Given the description of an element on the screen output the (x, y) to click on. 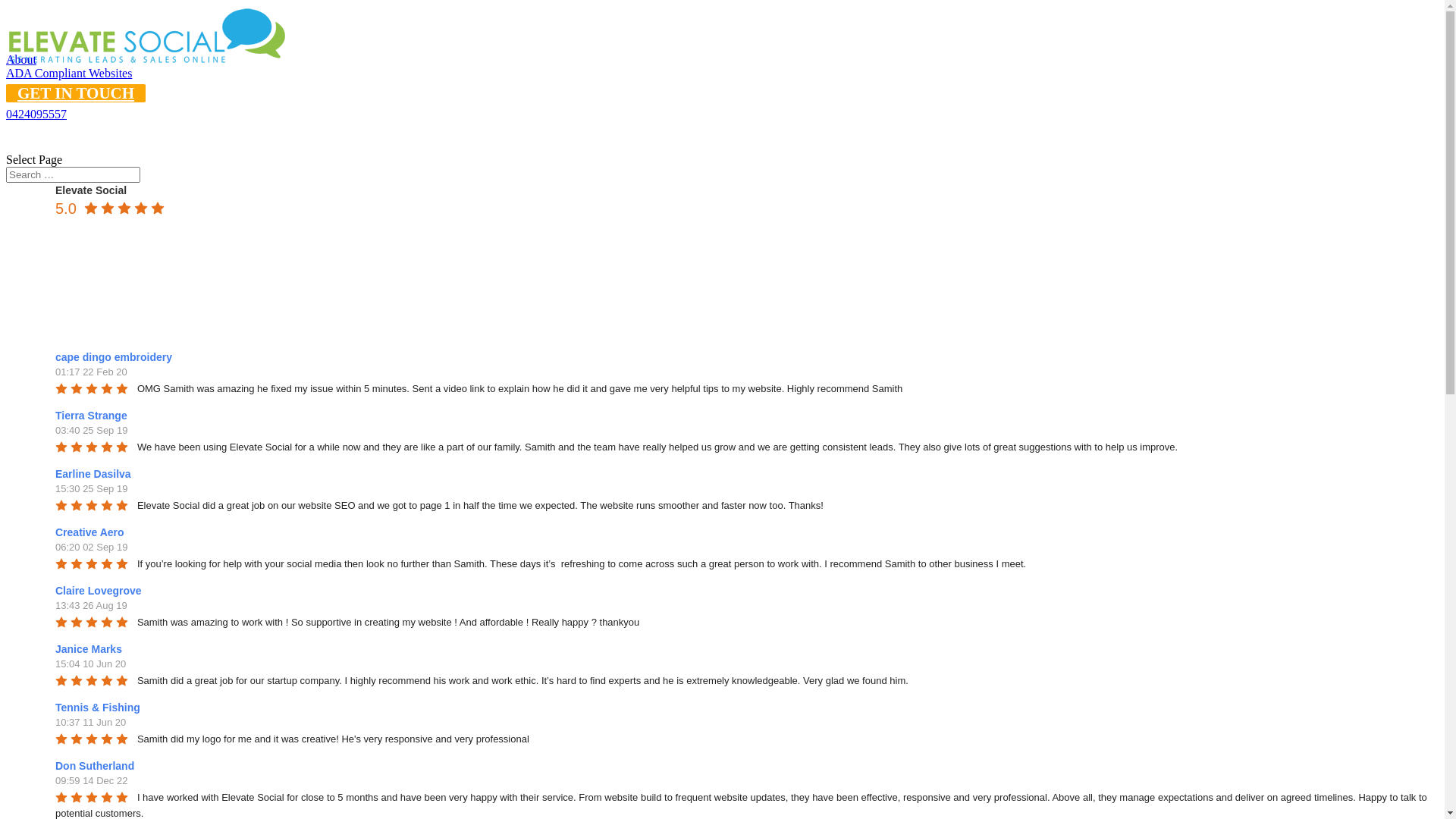
Claire Lovegrove Element type: text (100, 590)
Tierra Strange Element type: text (93, 415)
0424095557 Element type: text (36, 113)
Elevate Social Element type: text (90, 190)
Earline Dasilva Element type: text (95, 473)
About Element type: text (21, 59)
Search for: Element type: hover (73, 174)
GET IN TOUCH Element type: text (75, 93)
Janice Marks Element type: text (90, 649)
Creative Aero Element type: text (91, 532)
ADA Compliant Websites Element type: text (68, 72)
Don Sutherland Element type: text (96, 765)
cape dingo embroidery Element type: text (115, 357)
Tennis & Fishing Element type: text (99, 707)
